Given the description of an element on the screen output the (x, y) to click on. 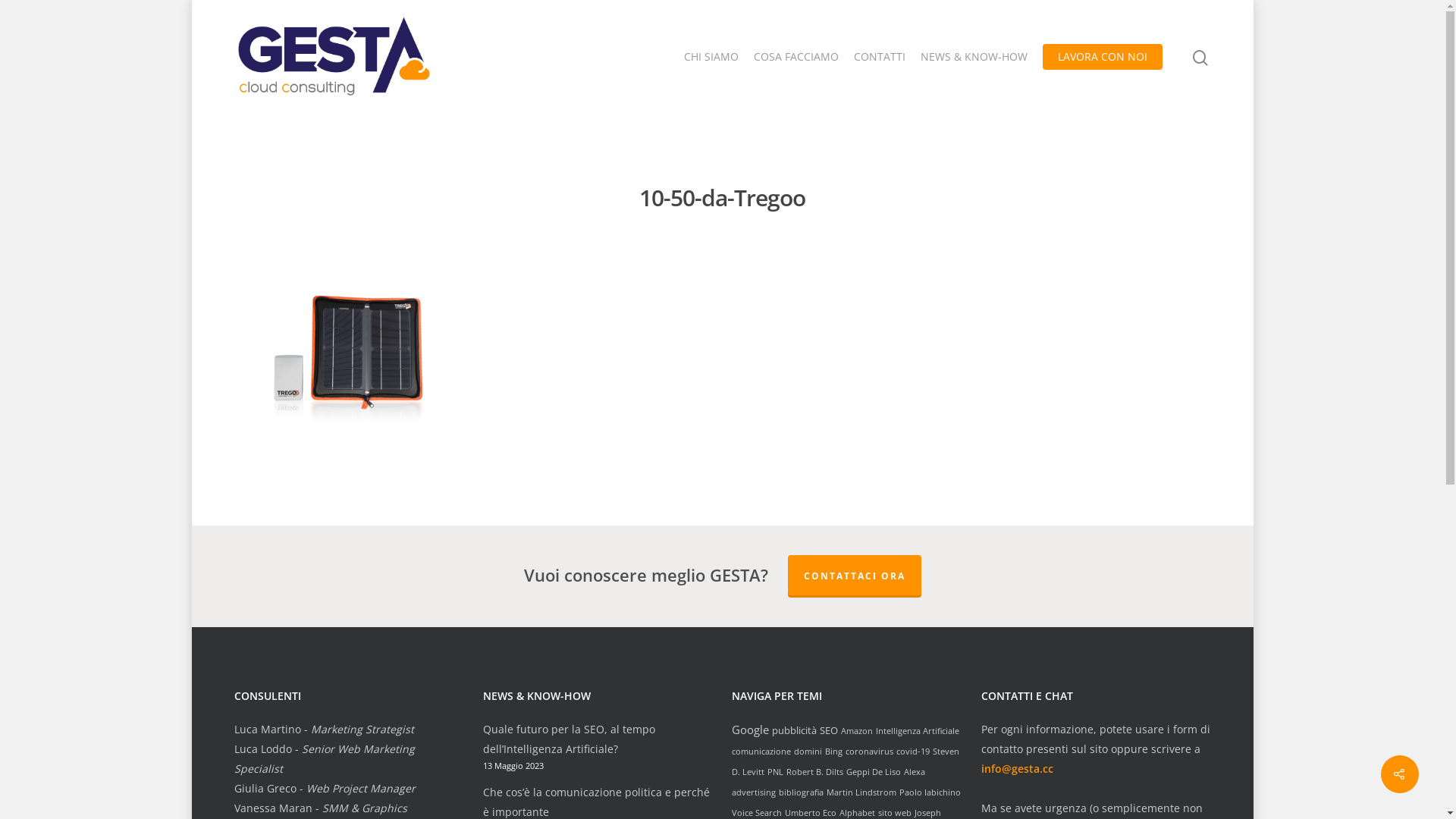
Geppi De Liso Element type: text (873, 771)
advertising Element type: text (753, 792)
Bing Element type: text (833, 750)
coronavirus Element type: text (869, 750)
Alphabet Element type: text (857, 812)
NEWS & KNOW-HOW Element type: text (973, 56)
Giulia Greco - Web Project Manager Element type: text (323, 788)
COSA FACCIAMO Element type: text (795, 56)
info@gesta.cc Element type: text (1017, 768)
Robert B. Dilts Element type: text (814, 771)
domini Element type: text (807, 750)
Vanessa Maran - SMM & Graphics Element type: text (319, 807)
CONTATTACI ORA Element type: text (853, 576)
Umberto Eco Element type: text (810, 812)
Voice Search Element type: text (756, 812)
Google Element type: text (749, 729)
comunicazione Element type: text (760, 750)
Intelligenza Artificiale Element type: text (917, 730)
LAVORA CON NOI Element type: text (1101, 56)
bibliografia Element type: text (800, 792)
Steven D. Levitt Element type: text (845, 761)
Amazon Element type: text (856, 730)
PNL Element type: text (775, 771)
SEO Element type: text (828, 730)
Luca Loddo - Senior Web Marketing Specialist Element type: text (323, 758)
CHI SIAMO Element type: text (711, 56)
CONTATTI Element type: text (879, 56)
Alexa Element type: text (914, 771)
covid-19 Element type: text (912, 750)
Luca Martino - Marketing Strategist Element type: text (323, 728)
Paolo Iabichino Element type: text (929, 792)
Martin Lindstrom Element type: text (861, 792)
sito web Element type: text (894, 812)
